Given the description of an element on the screen output the (x, y) to click on. 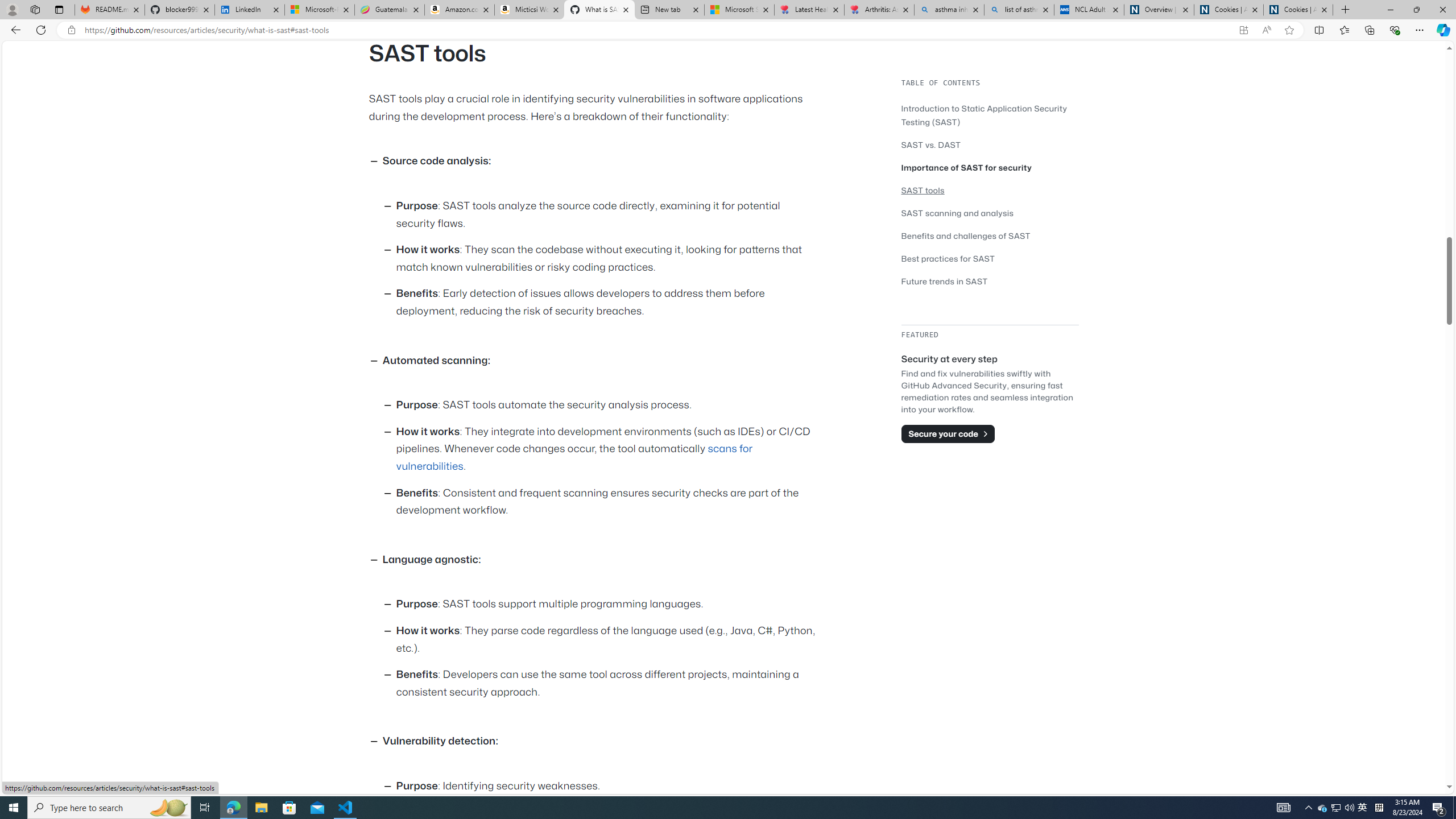
SAST scanning and analysis (957, 212)
Best practices for SAST (948, 258)
Future trends in SAST (989, 281)
Future trends in SAST (944, 280)
Introduction to Static Application Security Testing (SAST) (989, 115)
Benefits and challenges of SAST (965, 235)
